Given the description of an element on the screen output the (x, y) to click on. 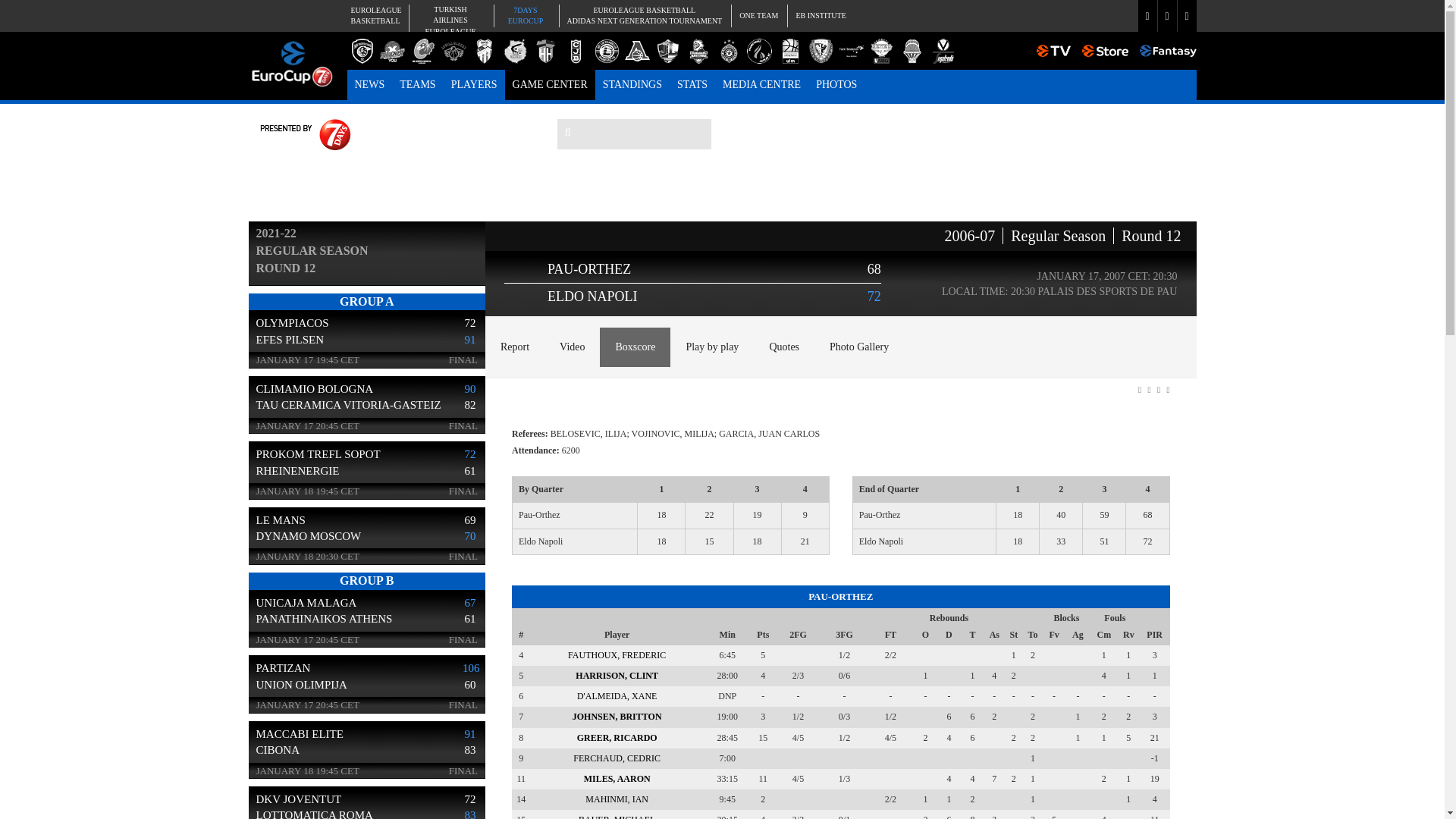
Euroleague Basketball (374, 15)
Hamburg Towers (544, 50)
EUROLEAGUE BASKETBALL (374, 15)
7DAYS EUROCUP (524, 15)
ONE TEAM (758, 15)
TEAMS (643, 15)
NEWS (416, 84)
STANDINGS (370, 84)
Lietkabelis Panevezys (632, 84)
EB Institute (606, 50)
EB INSTITUTE (820, 15)
Lokomotiv Kuban Krasnodar (820, 15)
Boulogne Metropolitans 92 (636, 50)
Dolomiti Energia Trento (362, 50)
